Given the description of an element on the screen output the (x, y) to click on. 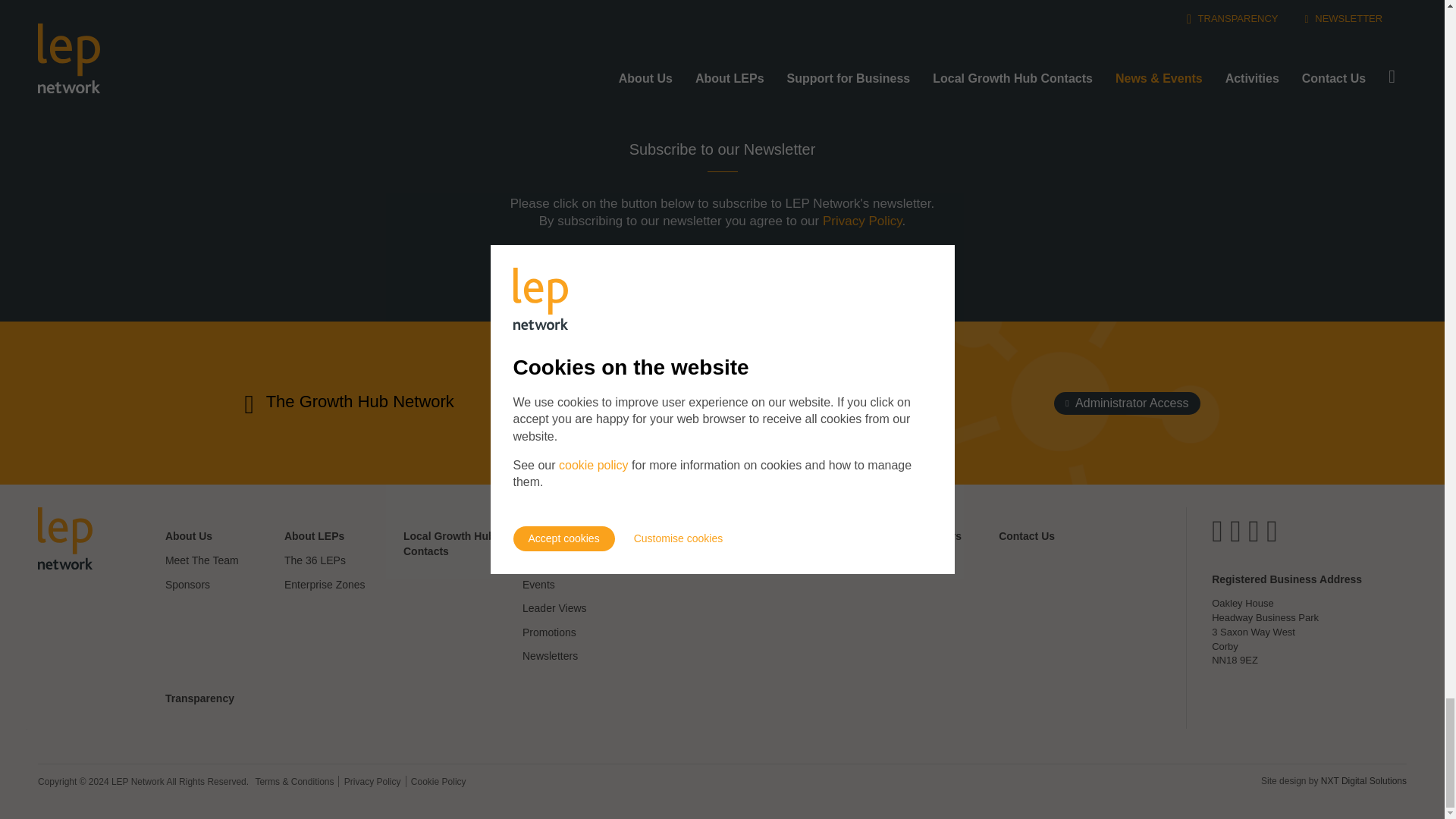
Privacy Policy (862, 220)
NXT Digital Solutions (1363, 780)
